Given the description of an element on the screen output the (x, y) to click on. 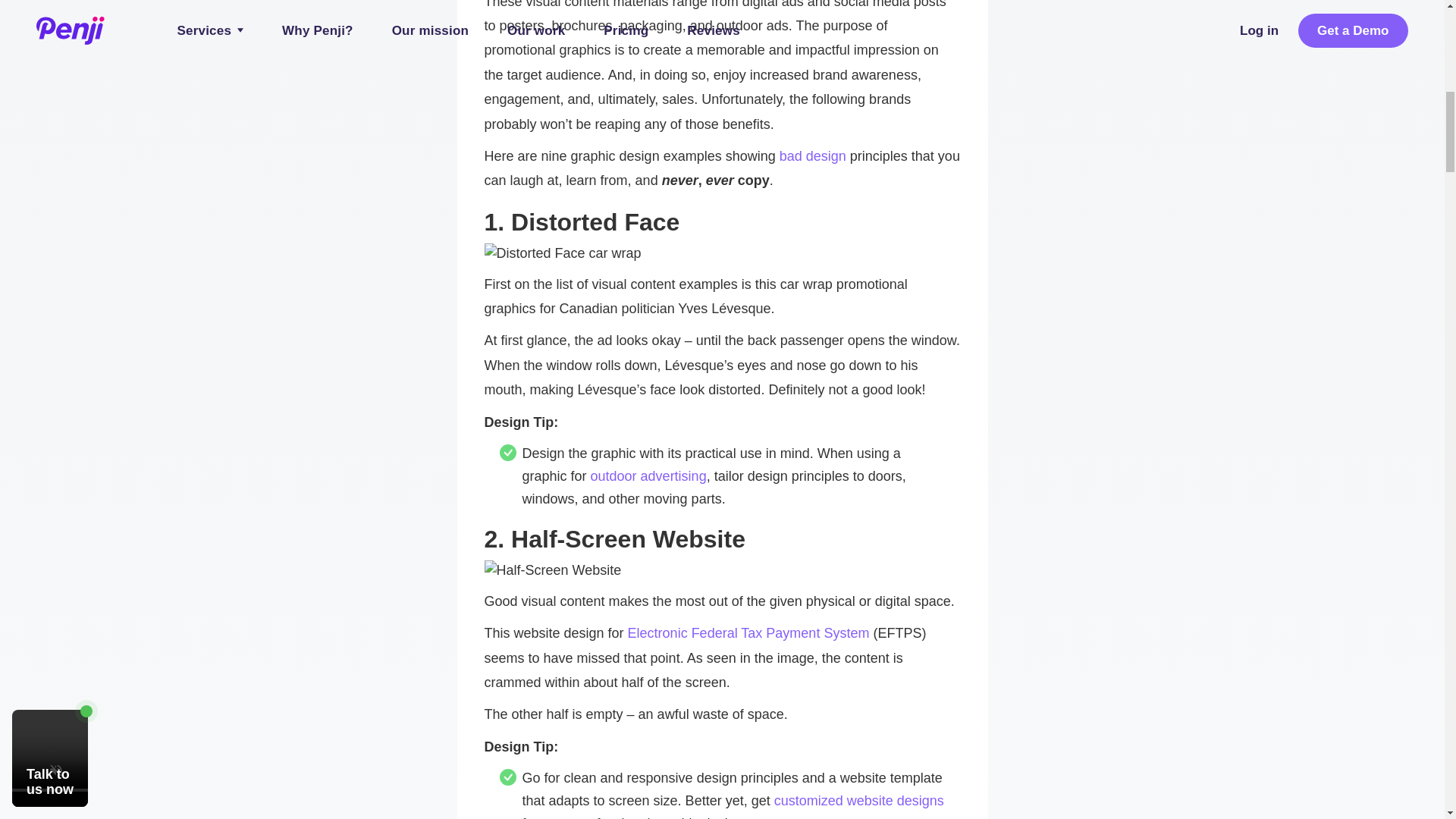
bad design (811, 155)
customized website designs (858, 800)
Electronic Federal Tax Payment System (748, 632)
outdoor advertising (648, 476)
